Given the description of an element on the screen output the (x, y) to click on. 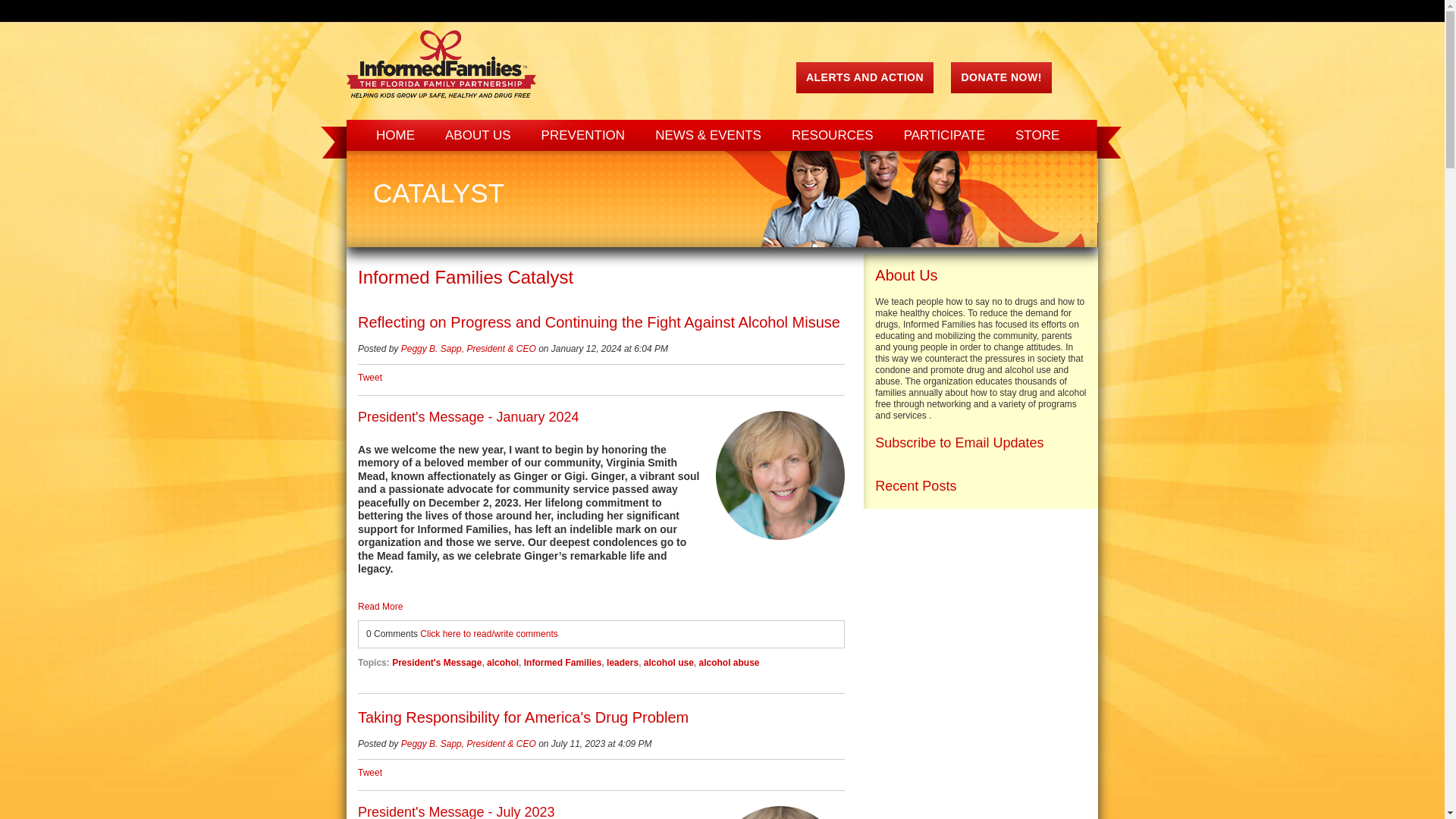
Informed Families - The Florida Family Partnership (440, 64)
HOME (395, 135)
RESOURCES (832, 135)
DONATE NOW! (1000, 77)
PREVENTION (582, 135)
STORE (1037, 135)
Tweet (369, 377)
ALERTS AND ACTION (864, 77)
ABOUT US (477, 135)
